Given the description of an element on the screen output the (x, y) to click on. 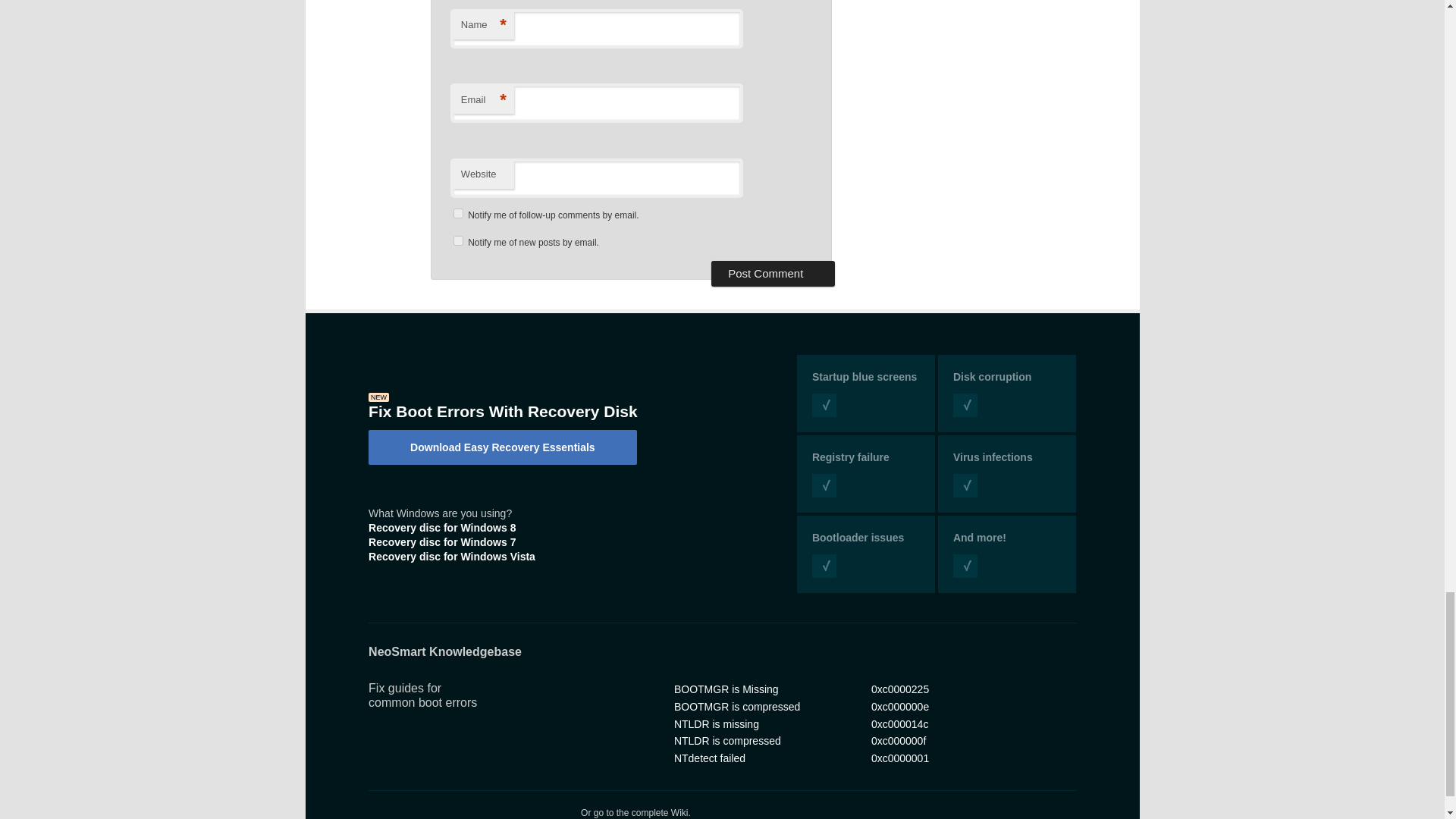
Fix BOOTMGR is Missing (726, 689)
subscribe (457, 213)
subscribe (457, 240)
Post Comment (772, 273)
Recovery and repair disc for Windows Vista (451, 556)
Recovery and repair disc for Windows 7 (441, 541)
Recovery and repair disc for Windows 8 (441, 527)
Fix BOOTMGR is compressed (736, 706)
Fix NTLDR is missing (716, 724)
Post Comment (772, 273)
